Given the description of an element on the screen output the (x, y) to click on. 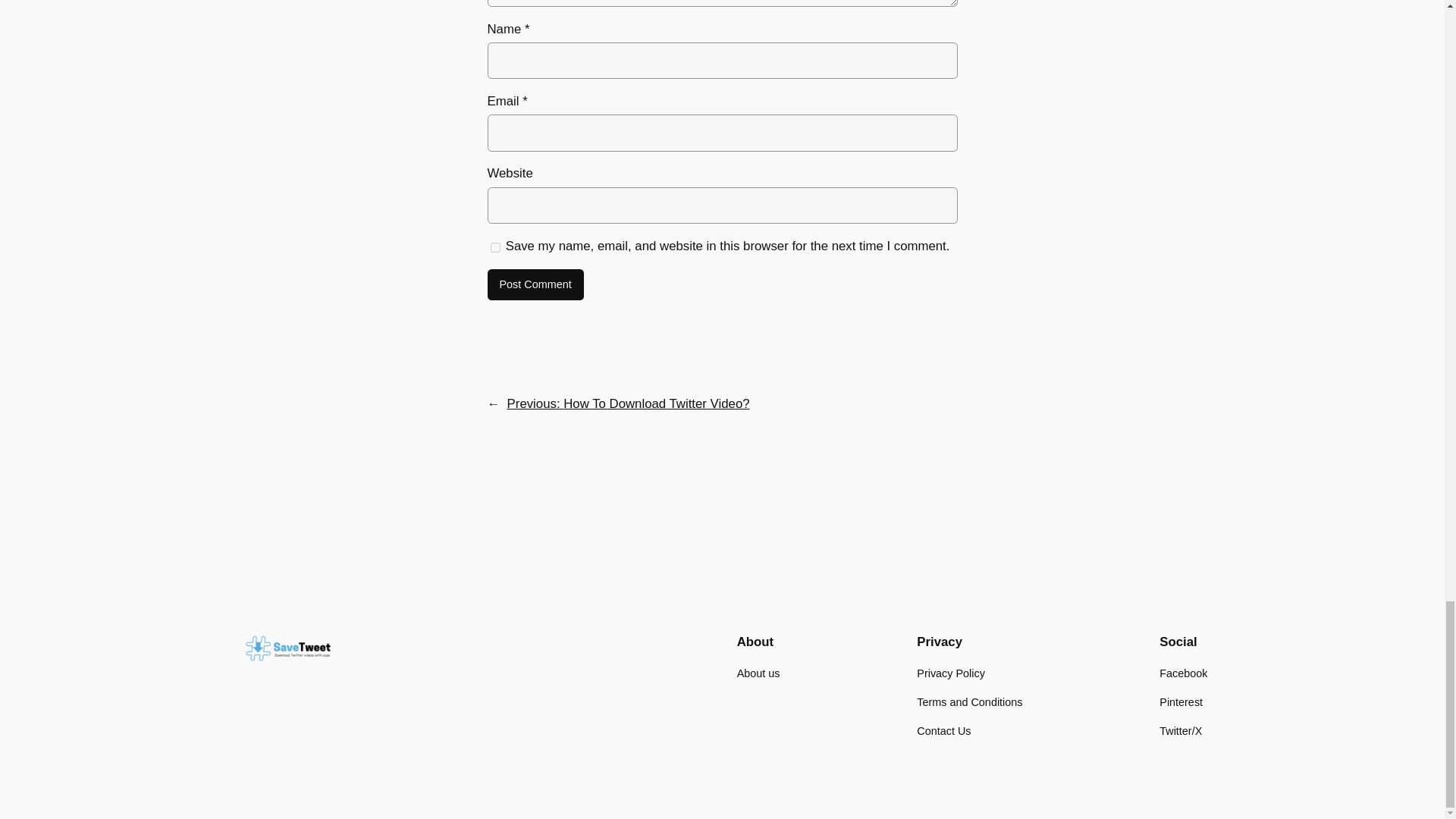
Previous: How To Download Twitter Video? (627, 403)
Facebook (1182, 673)
Post Comment (534, 285)
Terms and Conditions (969, 701)
Post Comment (534, 285)
Pinterest (1180, 701)
Contact Us (944, 730)
Privacy Policy (951, 673)
yes (494, 246)
About us (758, 673)
